Given the description of an element on the screen output the (x, y) to click on. 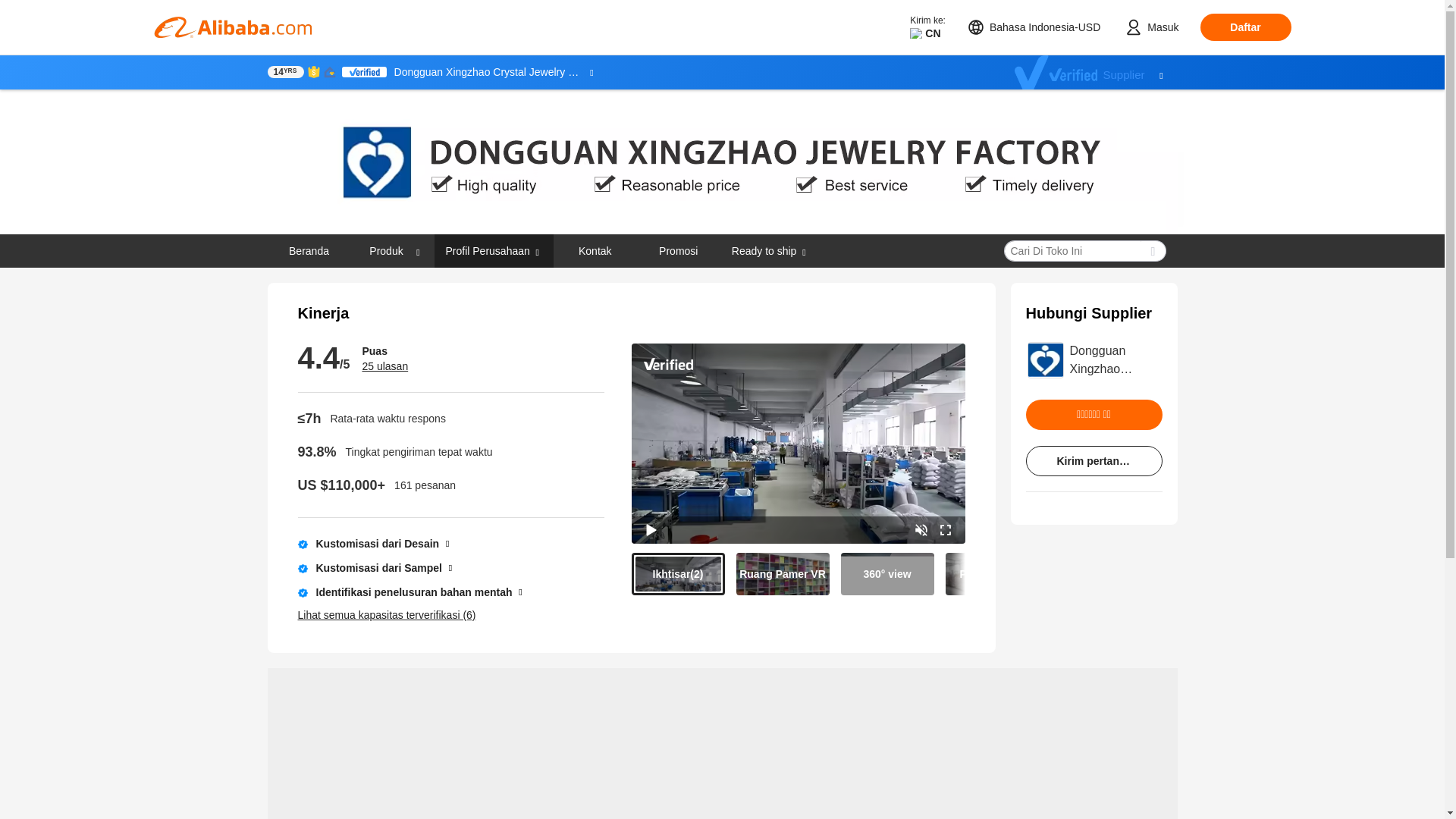
14YRS (284, 71)
Produk (391, 250)
Supplier (1095, 72)
Beranda (309, 250)
What is Gold Supplier? (284, 71)
Produk (386, 250)
Beranda (308, 250)
